Given the description of an element on the screen output the (x, y) to click on. 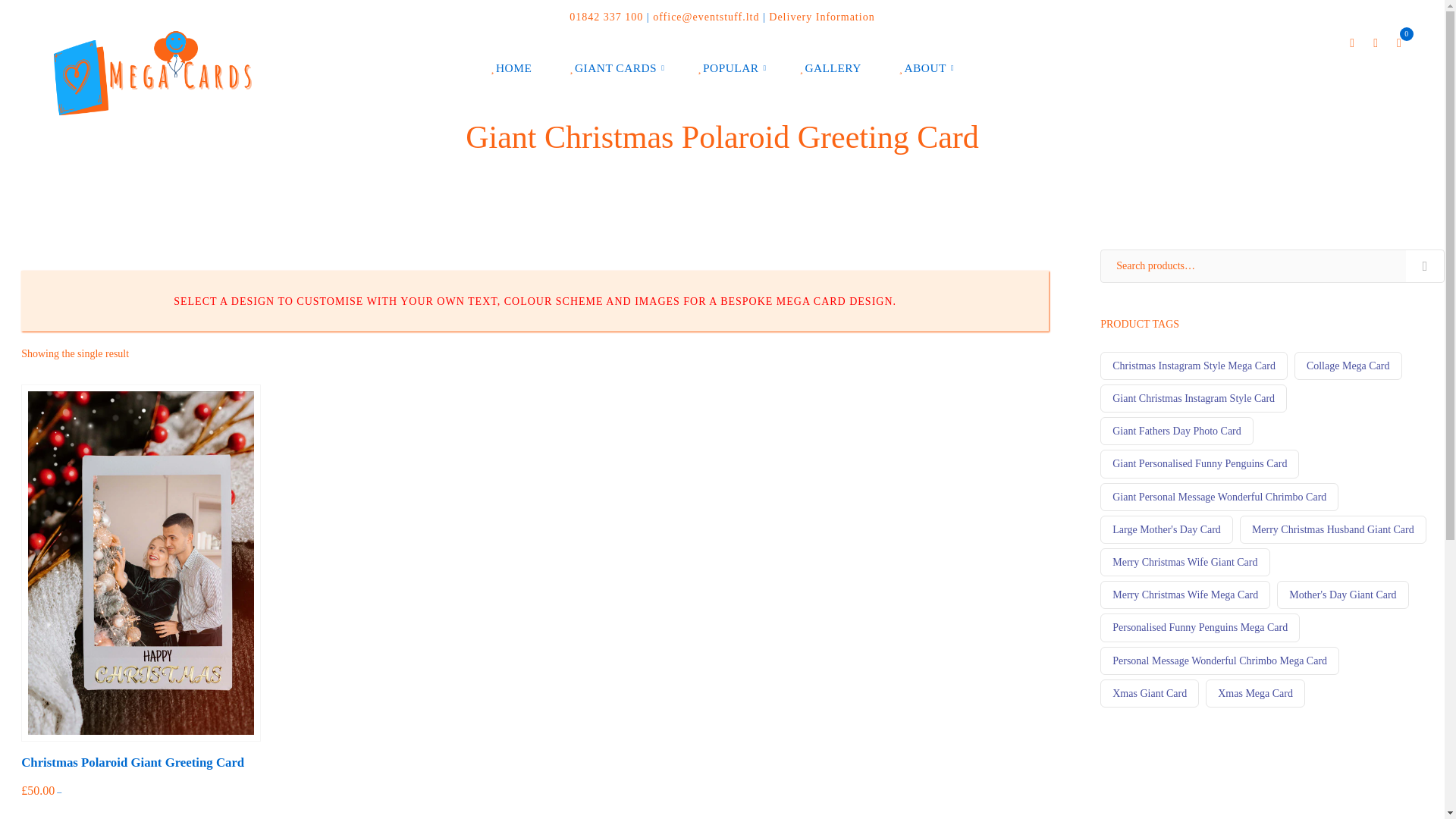
Mega Cards - Giant Cards (152, 71)
Delivery Information (821, 16)
GIANT CARDS (616, 67)
01842 337 100 (606, 16)
HOME (513, 67)
